Given the description of an element on the screen output the (x, y) to click on. 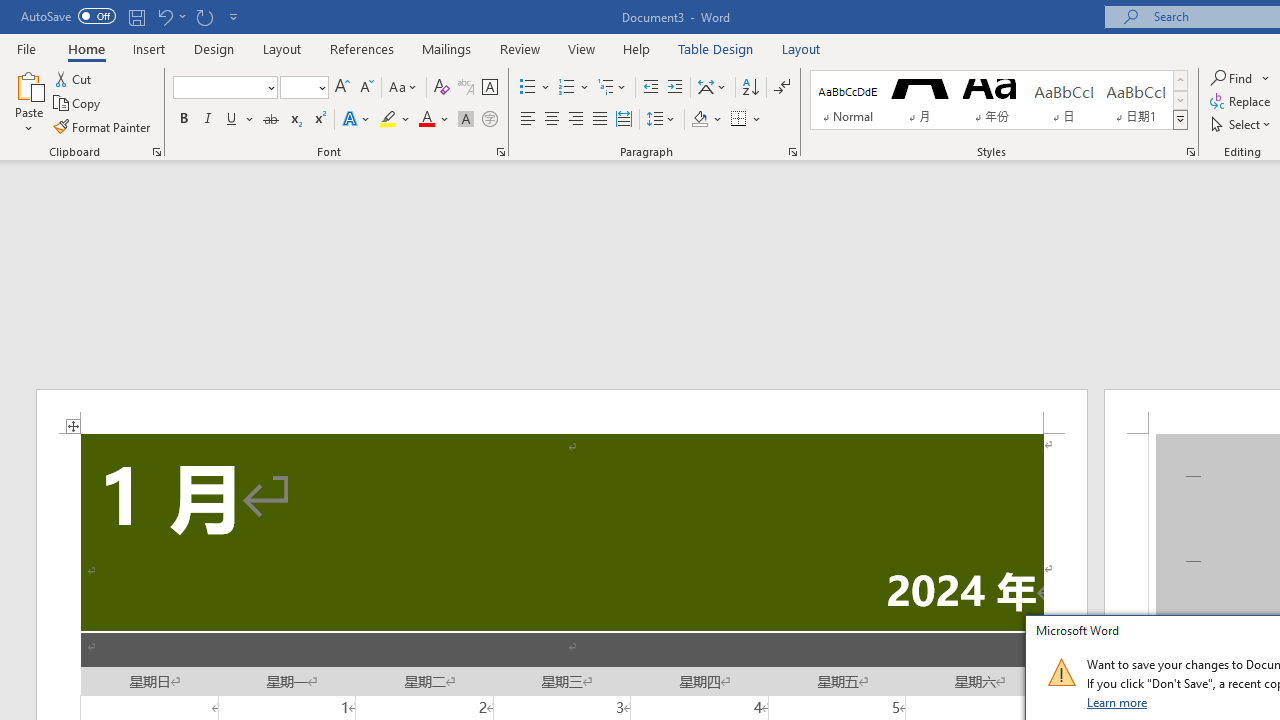
Font Color RGB(255, 0, 0) (426, 119)
